Given the description of an element on the screen output the (x, y) to click on. 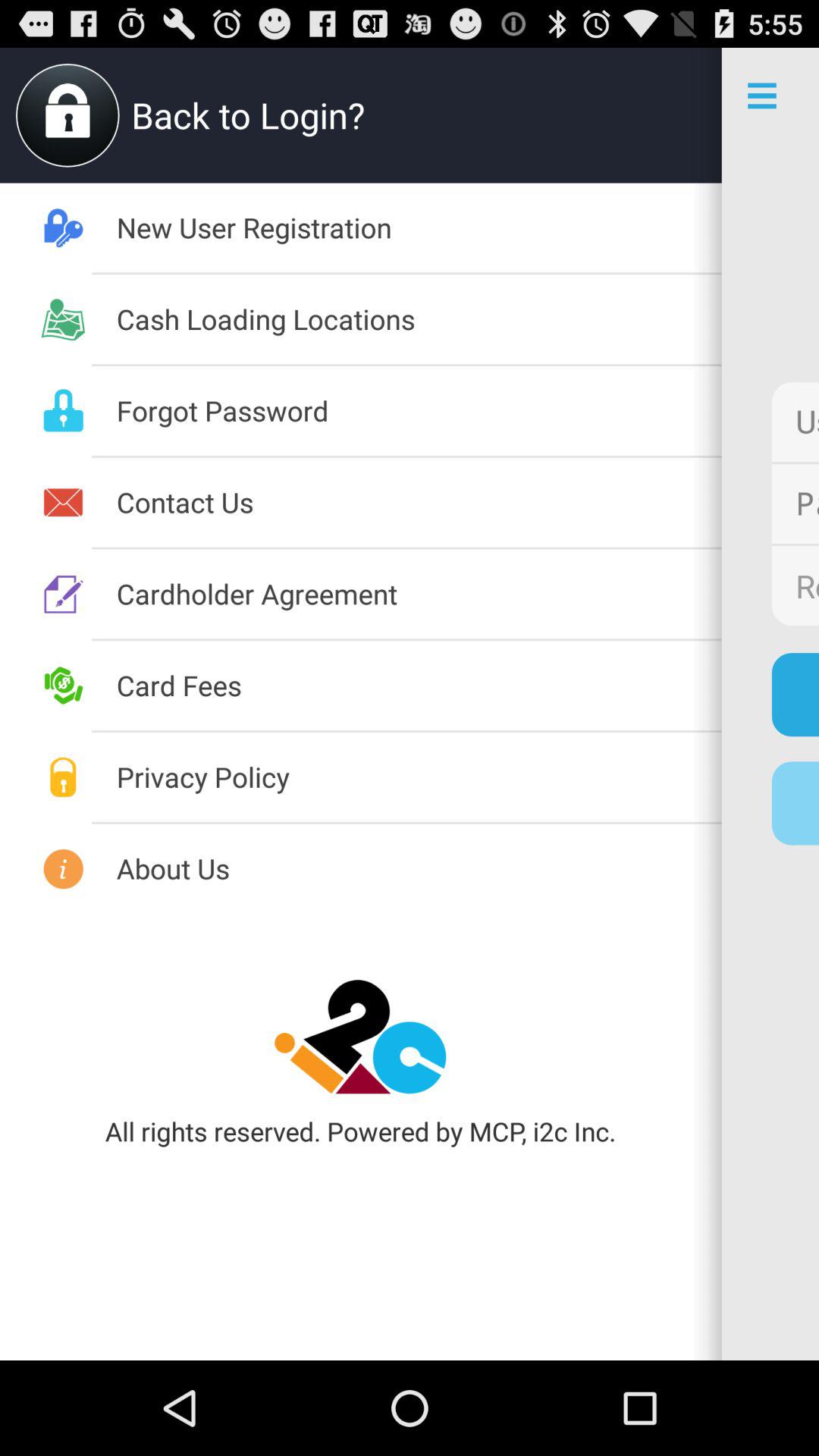
turn off item to the right of the card fees (795, 694)
